Given the description of an element on the screen output the (x, y) to click on. 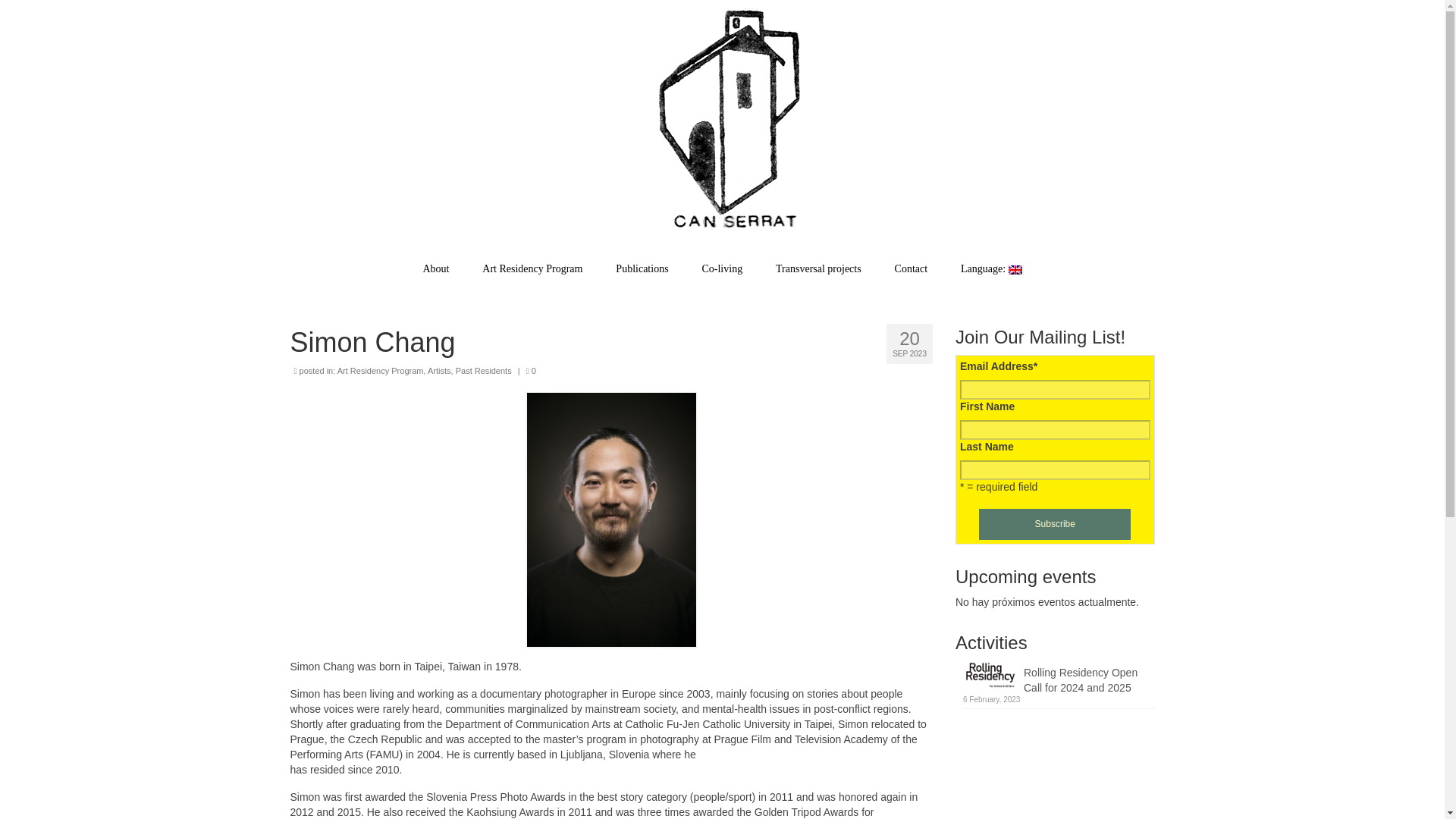
Subscribe (1054, 523)
Transversal projects (818, 268)
About (435, 268)
Art Residency Program (531, 268)
English (990, 268)
Publications (640, 268)
Co-living (721, 268)
Rolling Residency Open Call for 2024 and 2025 (1058, 677)
